Given the description of an element on the screen output the (x, y) to click on. 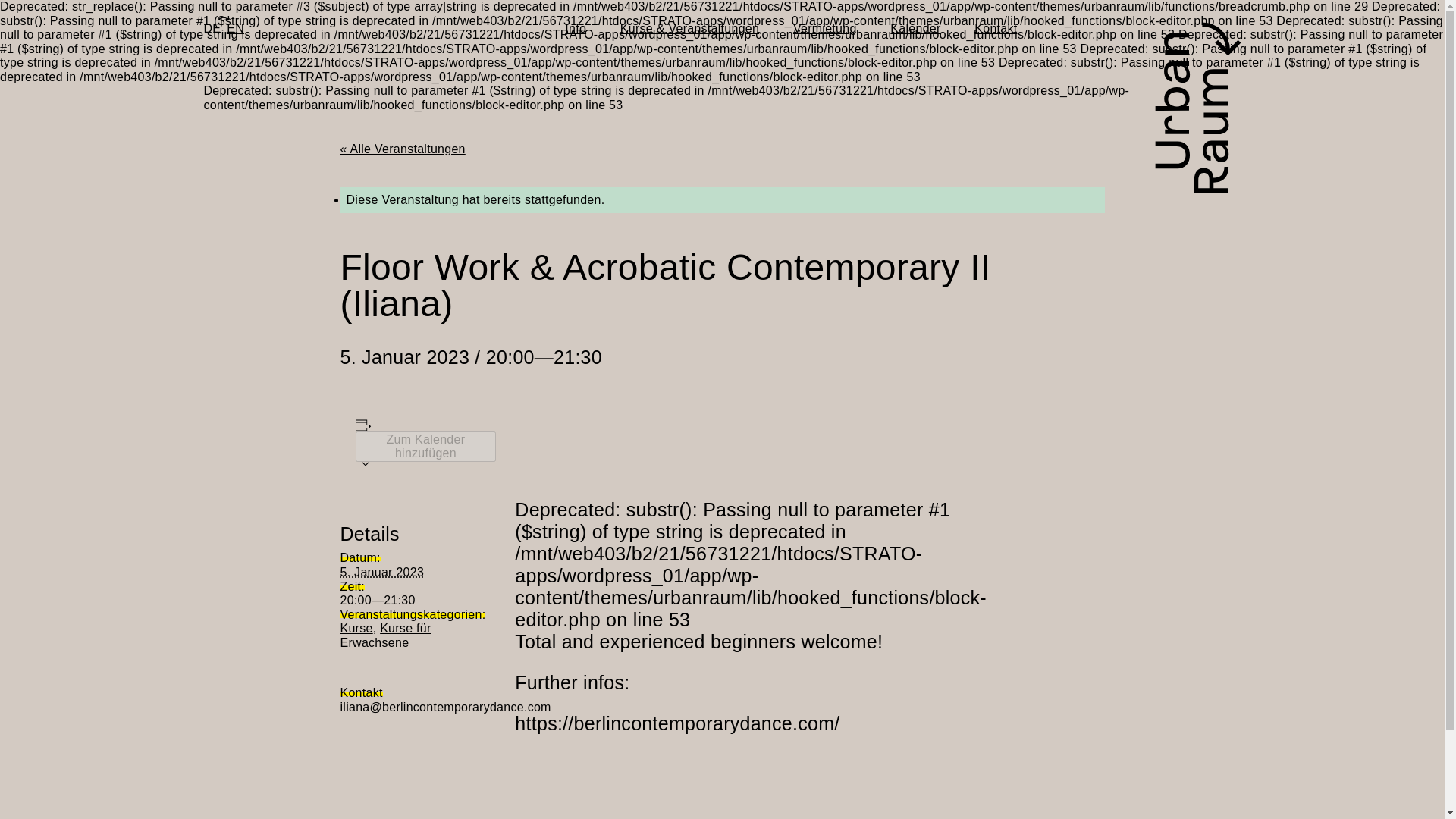
EN (235, 28)
Deutsch (212, 28)
Info (575, 28)
Kontakt (995, 28)
Info (575, 28)
Vermietung (825, 28)
Kalender (914, 28)
Kurse (355, 627)
Kontakt (995, 28)
2023-01-05 (403, 600)
Englisch (235, 28)
Vermietung (825, 28)
2023-01-05 (381, 571)
